Given the description of an element on the screen output the (x, y) to click on. 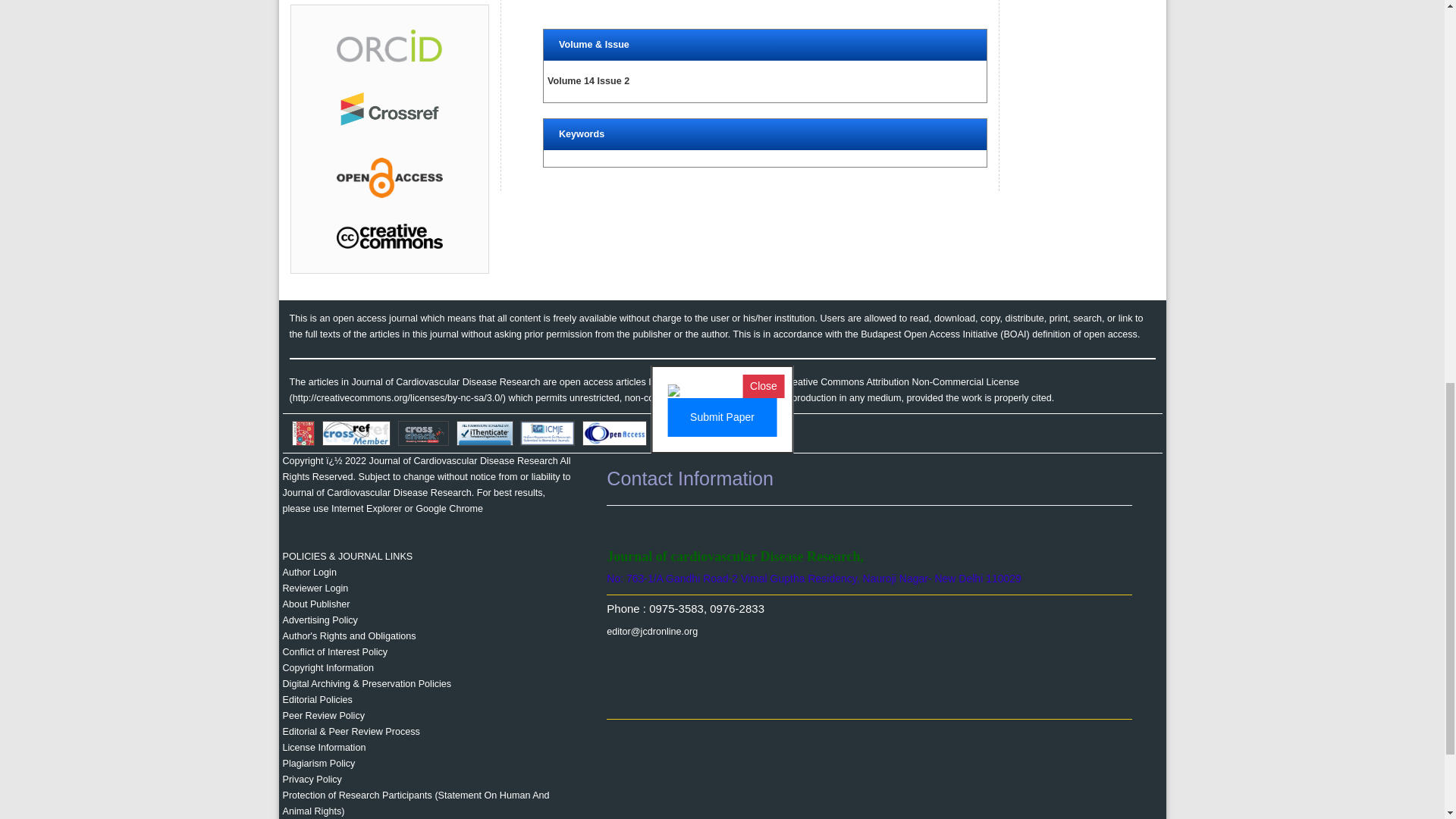
Copyright Information (327, 667)
Advertising Policy (319, 620)
Reviewer Login (314, 588)
Peer Review Policy (323, 715)
Author Login (309, 572)
License Information (323, 747)
Author's Rights and Obligations (348, 635)
Conflict of Interest Policy (334, 652)
About Publisher (315, 603)
Editorial Policies (317, 699)
